Given the description of an element on the screen output the (x, y) to click on. 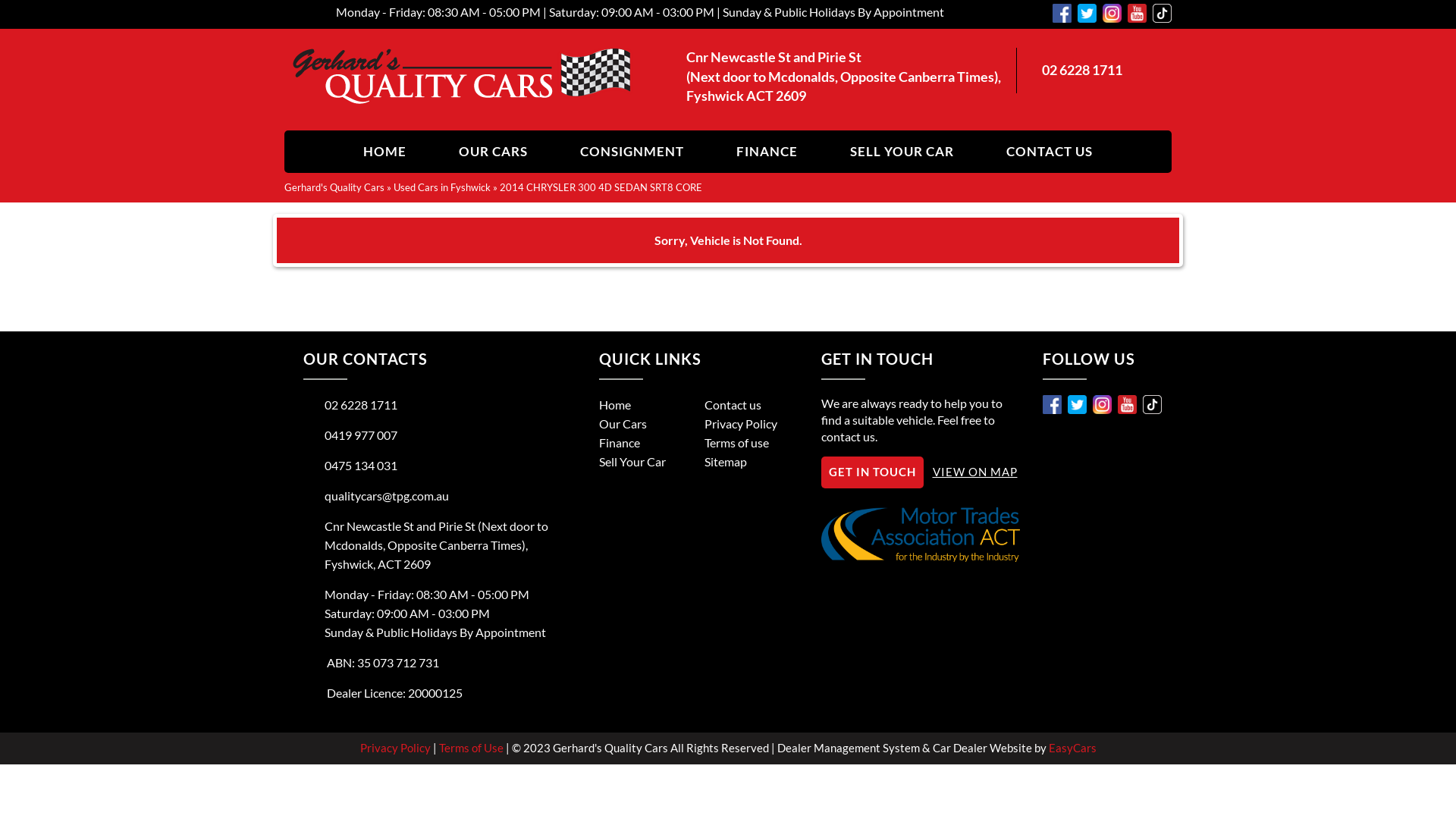
0419 977 007 Element type: text (350, 434)
FINANCE Element type: text (766, 151)
02 6228 1711 Element type: text (1081, 69)
Finance Element type: text (619, 442)
Gerhard's Quality Cars Element type: text (334, 187)
Privacy Policy Element type: text (395, 747)
qualitycars@tpg.com.au Element type: text (375, 495)
02 6228 1711 Element type: text (350, 404)
Privacy Policy Element type: text (740, 423)
Our Cars Element type: text (622, 423)
Sell Your Car Element type: text (632, 461)
Sitemap Element type: text (725, 461)
VIEW ON MAP Element type: text (974, 471)
HOME Element type: text (384, 151)
SELL YOUR CAR Element type: text (901, 151)
0475 134 031 Element type: text (350, 465)
EasyCars Element type: text (1071, 747)
GET IN TOUCH Element type: text (871, 471)
Terms of use Element type: text (736, 442)
CONSIGNMENT Element type: text (631, 151)
OUR CARS Element type: text (492, 151)
Terms of Use Element type: text (471, 747)
Home Element type: text (614, 404)
Used Cars in Fyshwick Element type: text (441, 187)
CONTACT US Element type: text (1049, 151)
Contact us Element type: text (732, 404)
2014 CHRYSLER 300 4D SEDAN SRT8 CORE Element type: text (600, 187)
